Given the description of an element on the screen output the (x, y) to click on. 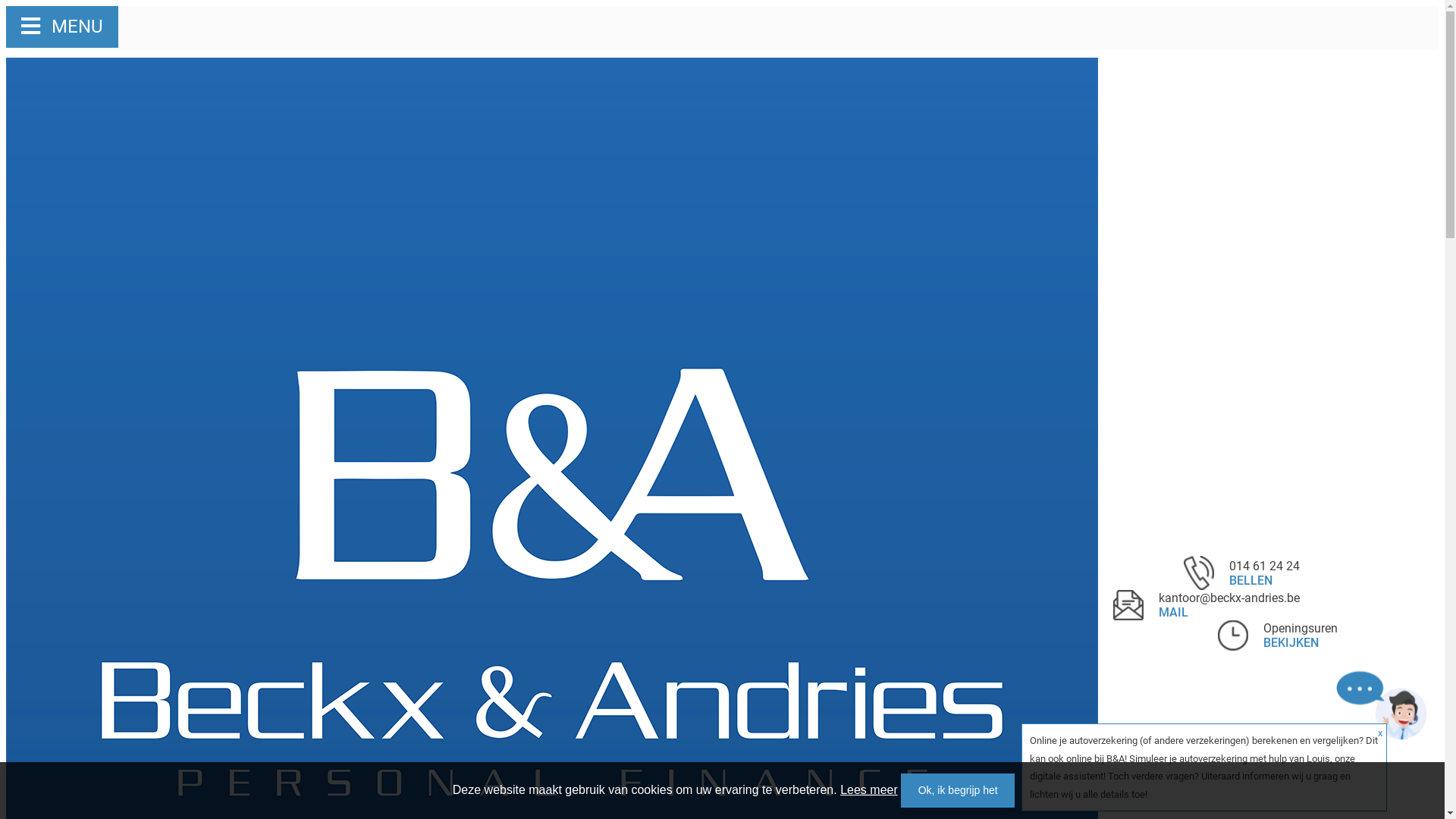
mail Element type: hover (1128, 604)
phone Element type: hover (1198, 572)
MAIL Element type: text (1173, 612)
BEKIJKEN Element type: text (1290, 642)
clock Element type: hover (1232, 635)
Ok, ik begrijp het Element type: text (957, 790)
BELLEN Element type: text (1250, 580)
Lees meer Element type: text (868, 789)
